Given the description of an element on the screen output the (x, y) to click on. 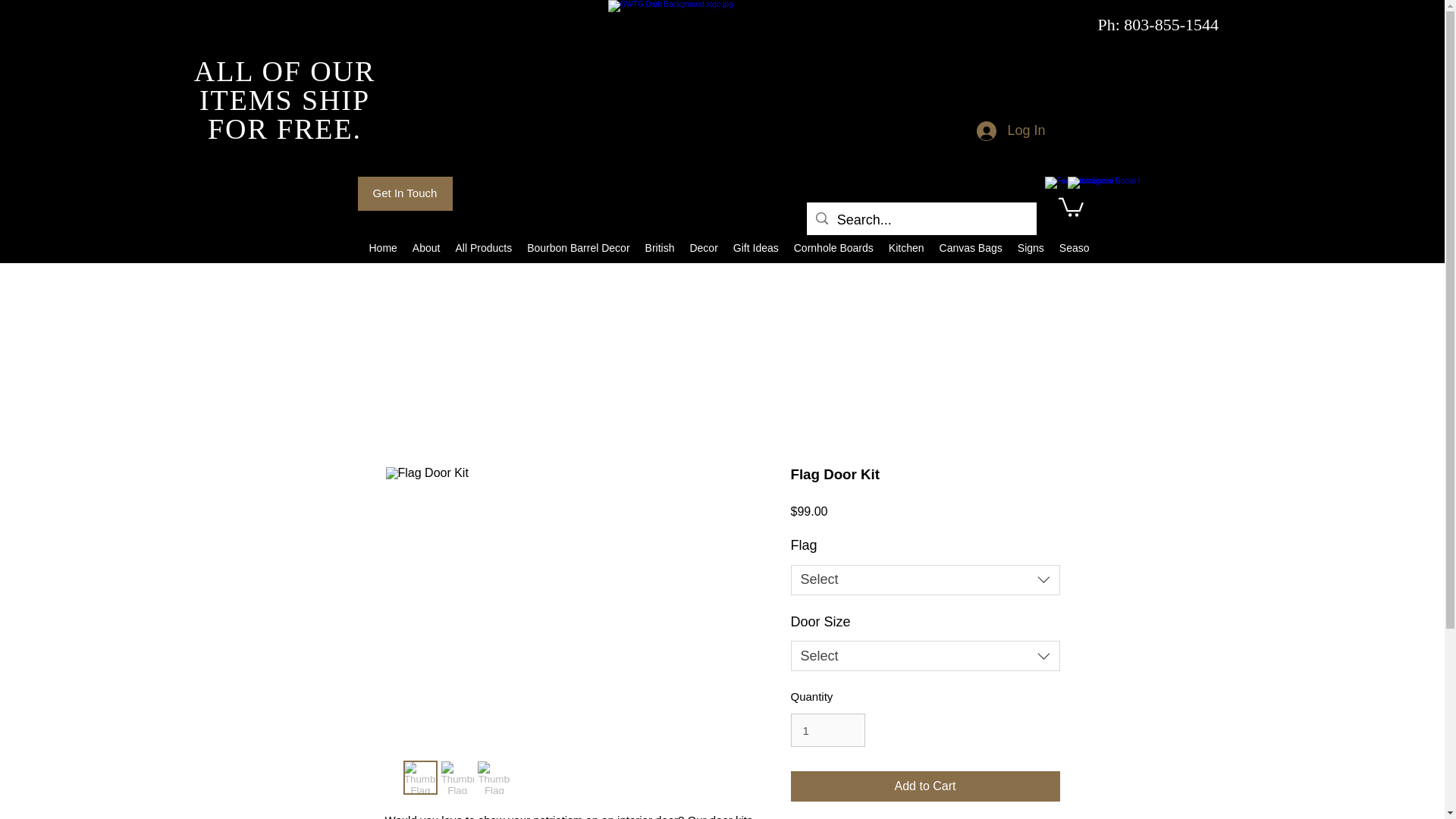
Log In (1010, 131)
Home (382, 250)
British (659, 250)
1 (827, 729)
Decor (703, 250)
Bourbon Barrel Decor (578, 250)
Add to Cart (924, 786)
Kitchen (905, 250)
Cornhole Boards (833, 250)
Select (924, 655)
